Given the description of an element on the screen output the (x, y) to click on. 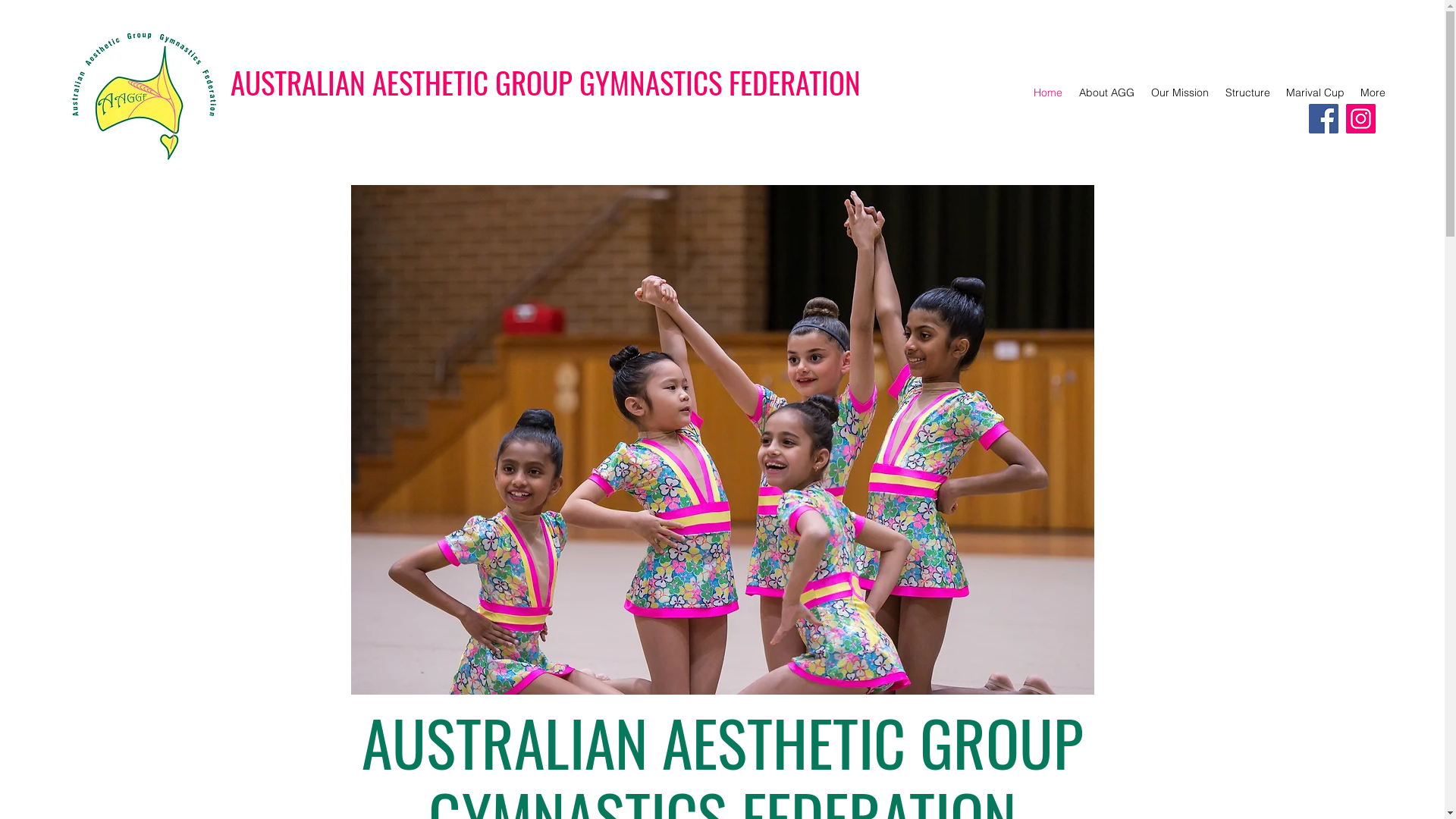
Home Element type: text (1047, 92)
AUSTRALIAN AESTHETIC GROUP GYMNASTICS FEDERATION Element type: text (545, 81)
Our Mission Element type: text (1179, 92)
Marival Cup Element type: text (1314, 92)
Structure Element type: text (1246, 92)
About AGG Element type: text (1106, 92)
